Given the description of an element on the screen output the (x, y) to click on. 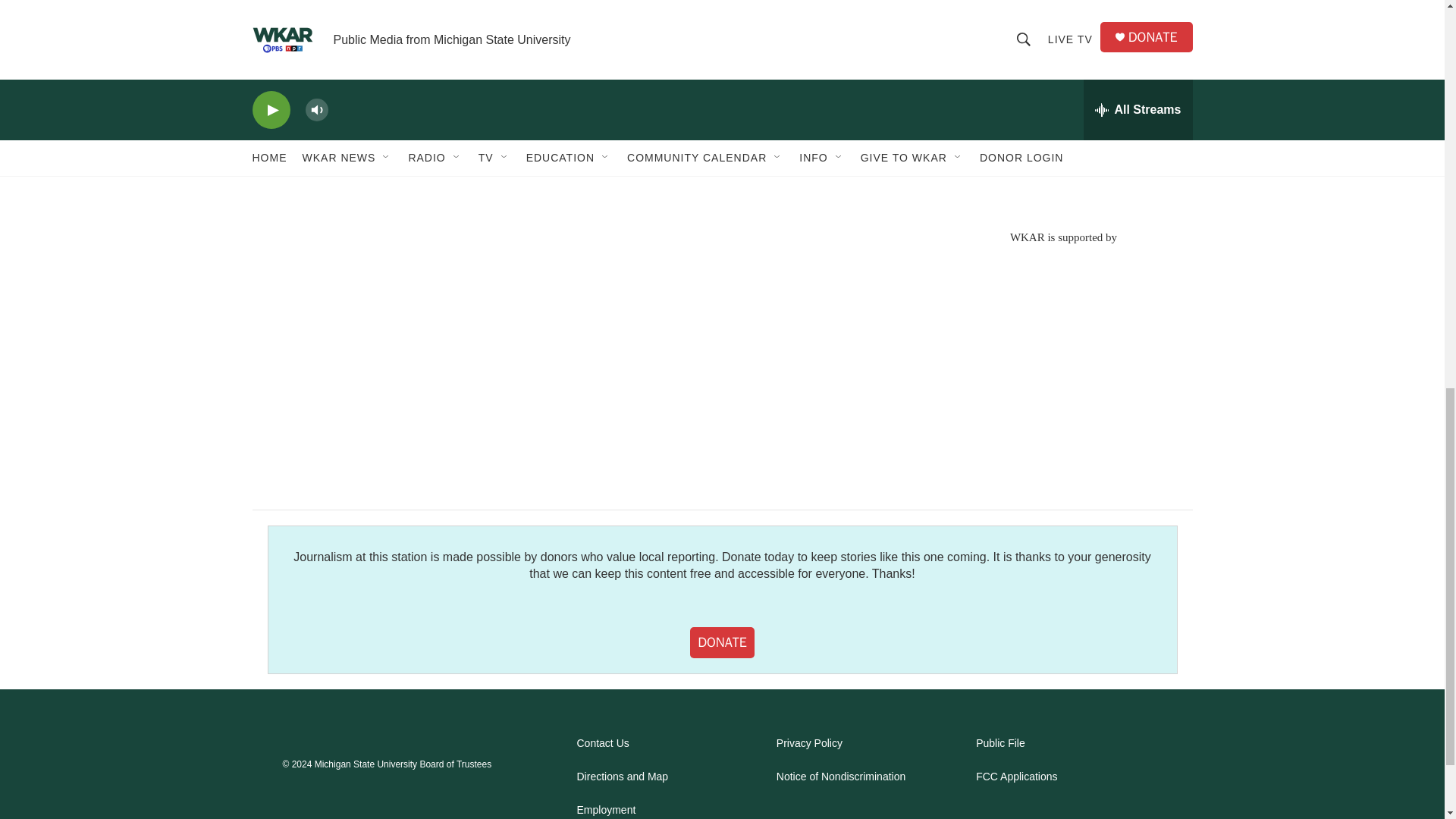
3rd party ad content (1062, 353)
3rd party ad content (1062, 105)
